Given the description of an element on the screen output the (x, y) to click on. 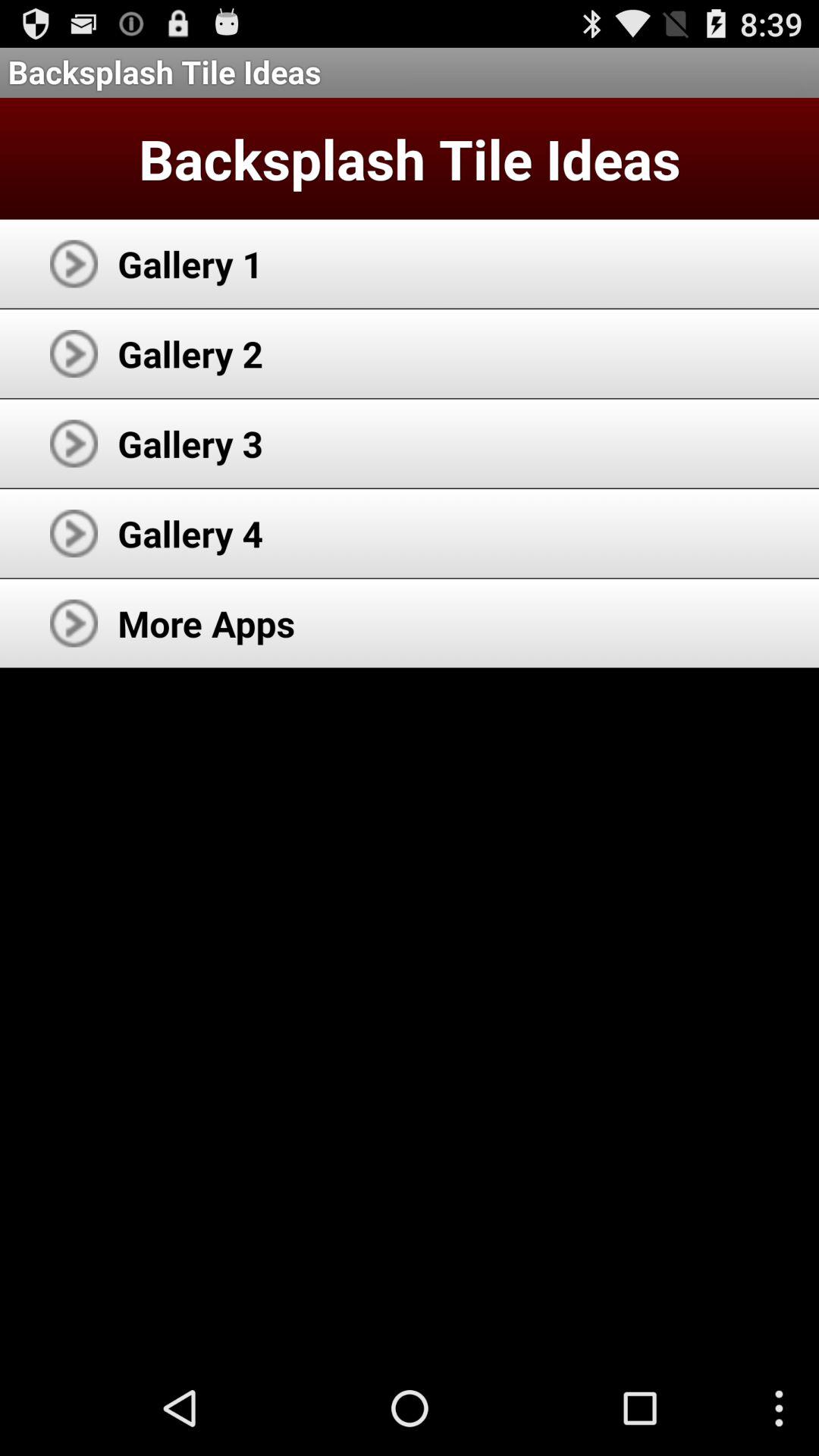
open the gallery 1 (190, 263)
